Given the description of an element on the screen output the (x, y) to click on. 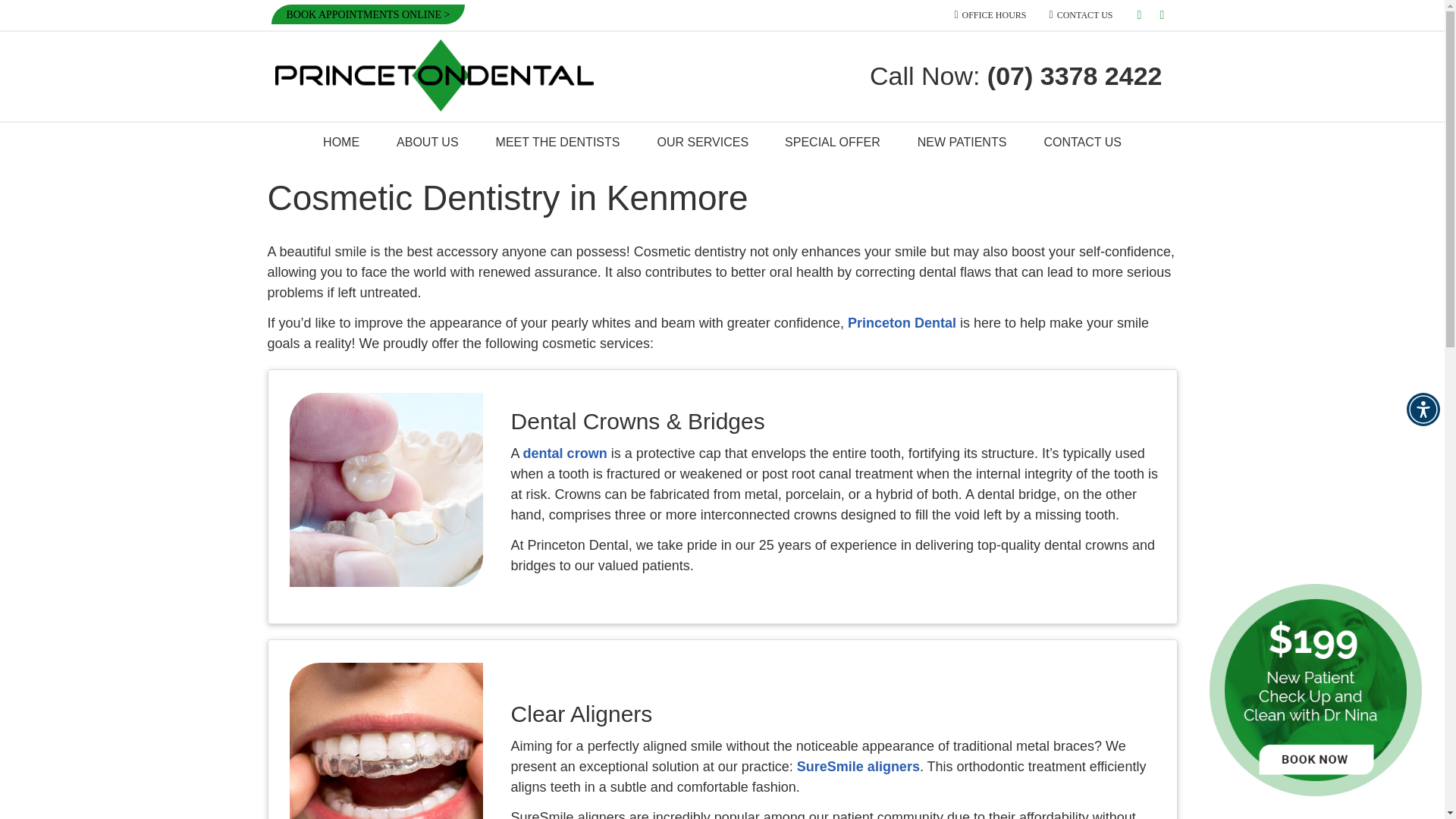
Facebook Social Button (1161, 14)
HOME (341, 142)
Princeton Dental (433, 106)
MEET THE DENTISTS (558, 142)
NEW PATIENTS (962, 142)
SPECIAL OFFER (833, 142)
CONTACT US (1082, 142)
OUR SERVICES (703, 142)
ABOUT US (427, 142)
OFFICE HOURS (989, 14)
Welcome to Princeton Dental (433, 106)
CONTACT US (1081, 14)
Princeton Dental (901, 322)
Google Social Button (1138, 14)
Accessibility Menu (1422, 409)
